Given the description of an element on the screen output the (x, y) to click on. 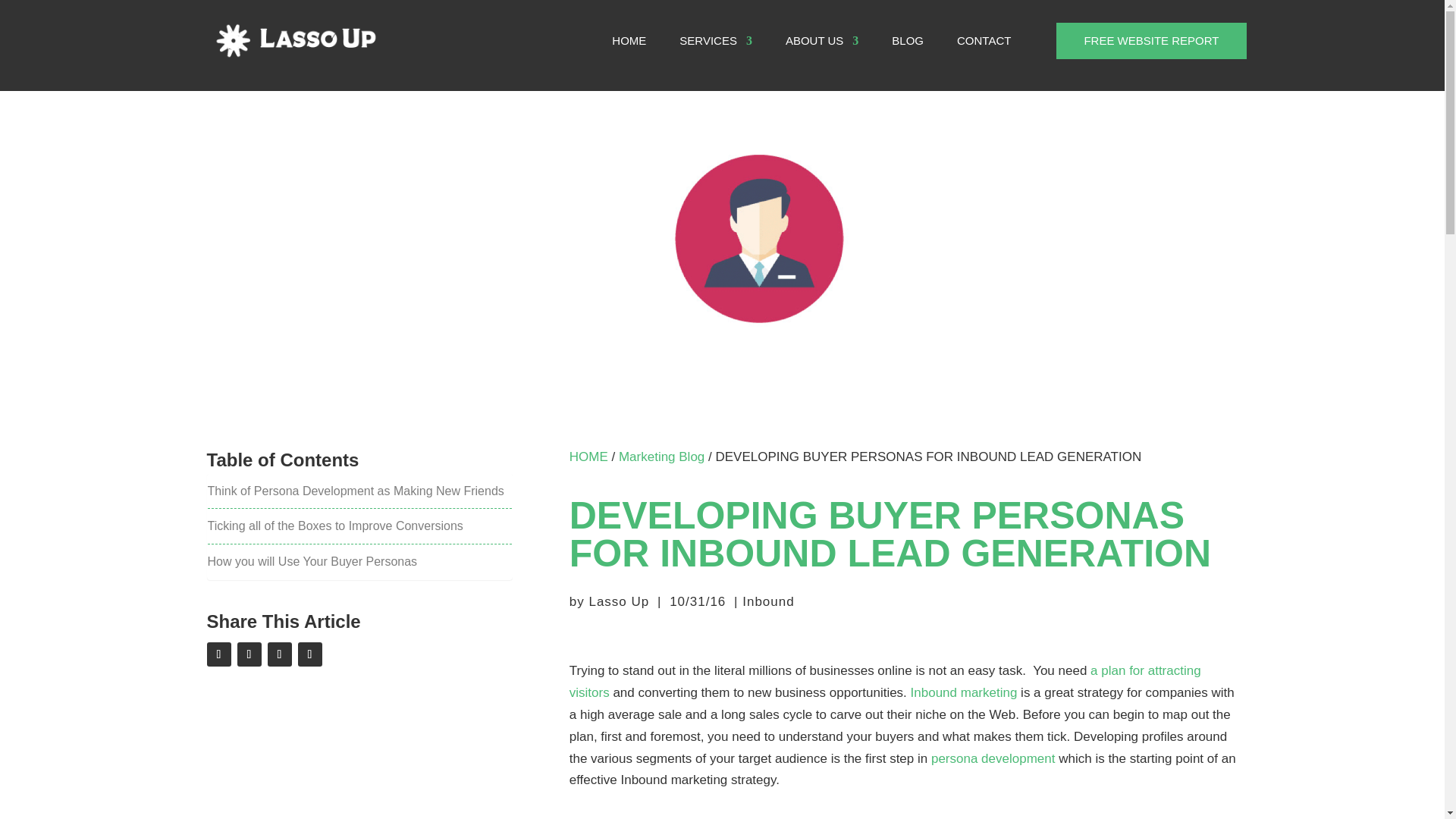
Inbound (767, 601)
ABOUT US (822, 40)
CONTACT (983, 40)
Think of Persona Development as Making New Friends (355, 491)
HOME (588, 456)
FREE WEBSITE REPORT (1150, 40)
a plan for attracting visitors (885, 681)
Follow on Instagram (278, 654)
How you will Use Your Buyer Personas (312, 561)
persona development (993, 757)
SERVICES (715, 40)
How you will Use Your Buyer Personas (312, 561)
Posts by Lasso Up (618, 601)
Ticking all of the Boxes to Improve Conversions (335, 526)
